Given the description of an element on the screen output the (x, y) to click on. 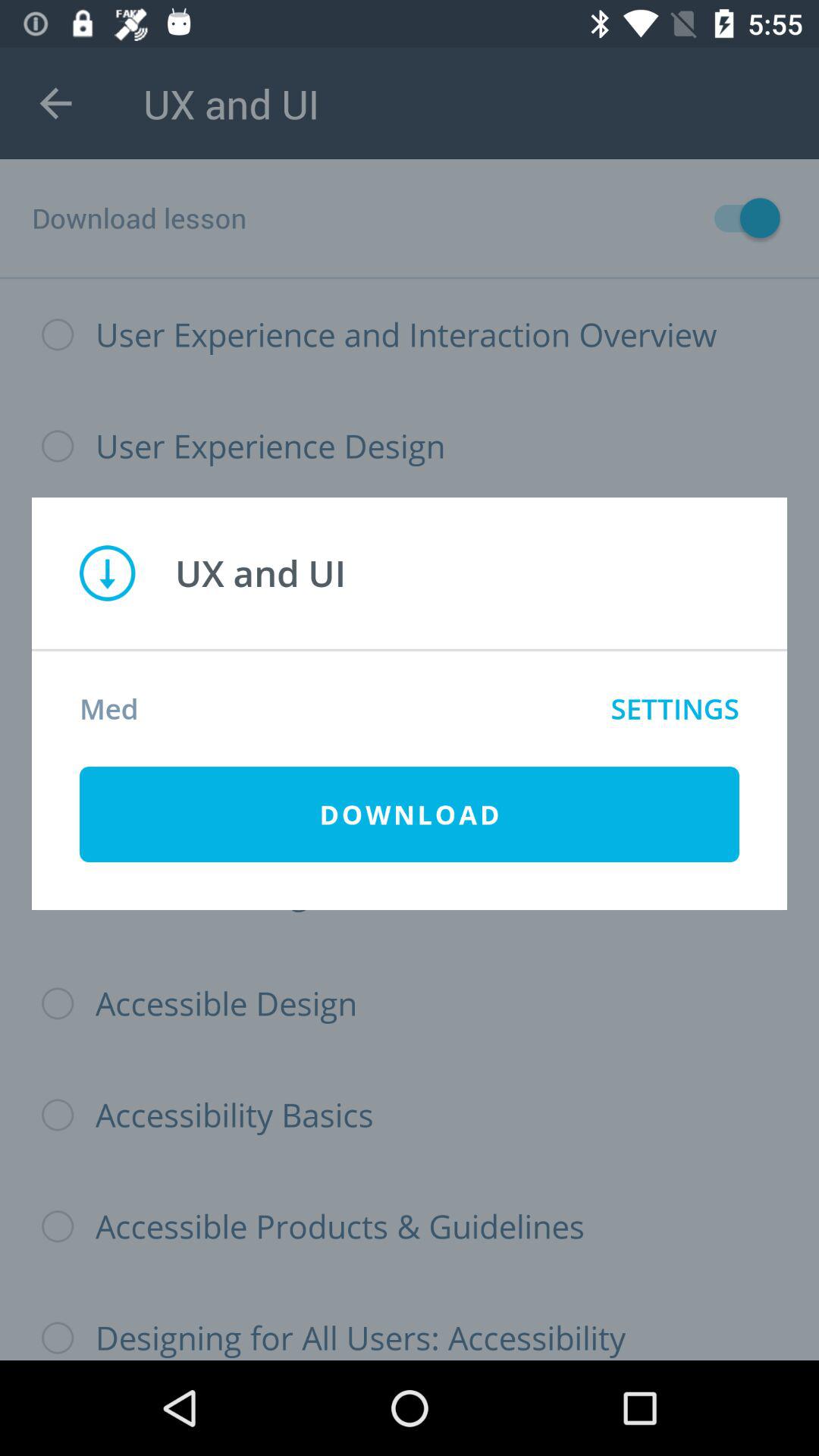
turn off icon next to med icon (674, 708)
